Given the description of an element on the screen output the (x, y) to click on. 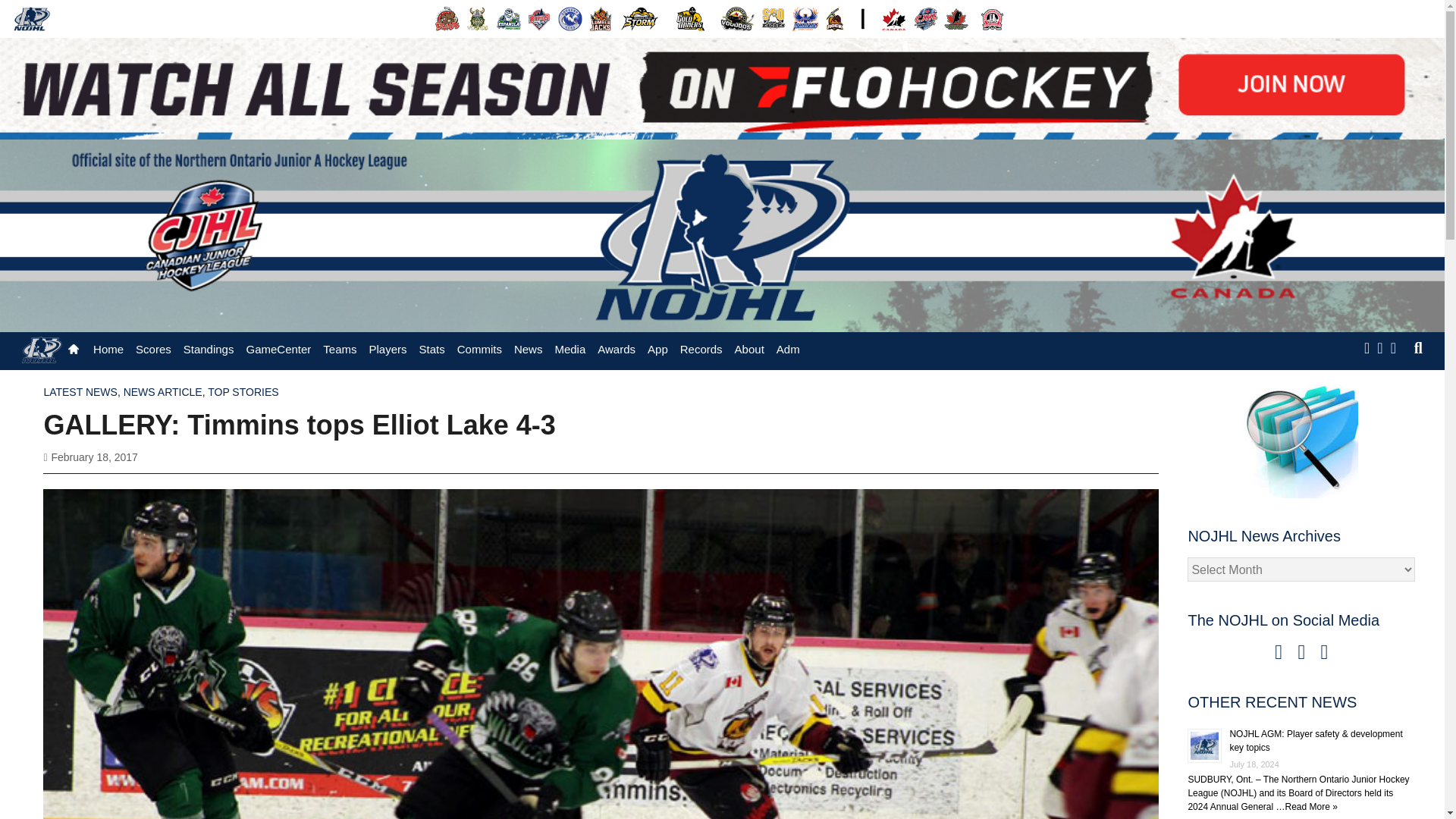
Greater Sudbury Cubs (569, 18)
Blind River Beavers (447, 18)
Elliot Lake Vikings (478, 18)
French River Rapids (539, 18)
NOJHL (31, 18)
Iroquois Falls Storm (639, 18)
Hearst Lumberjacks (600, 18)
Espanola Paper Kings (508, 18)
